Given the description of an element on the screen output the (x, y) to click on. 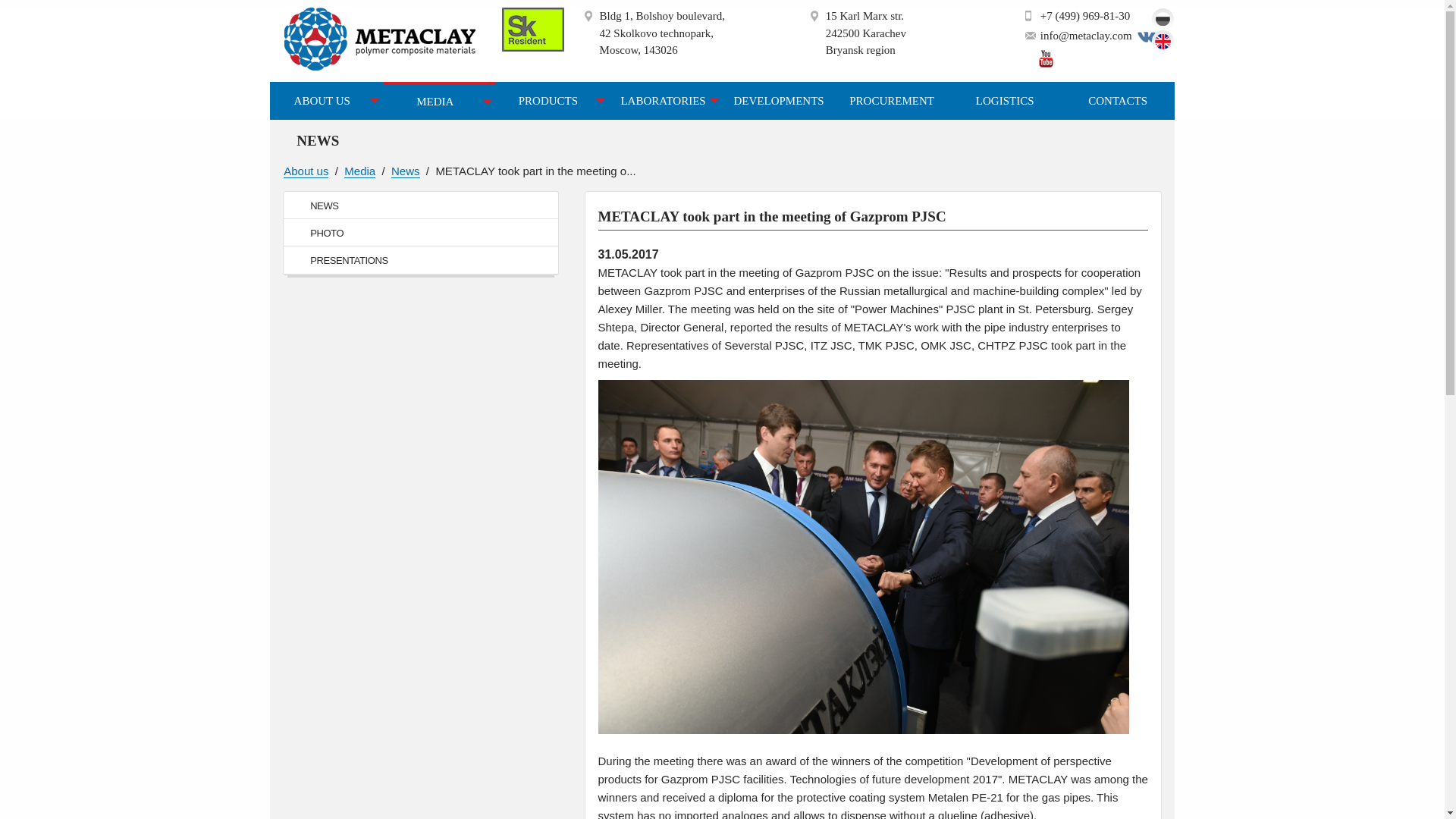
ABOUT US (325, 100)
PROCUREMENT (892, 100)
DEVELOPMENTS (778, 100)
MEDIA (439, 101)
About us (306, 171)
CONTACTS (1117, 100)
LABORATORIES (665, 100)
Media (359, 171)
PRODUCTS (552, 100)
LOGISTICS (1005, 100)
